Given the description of an element on the screen output the (x, y) to click on. 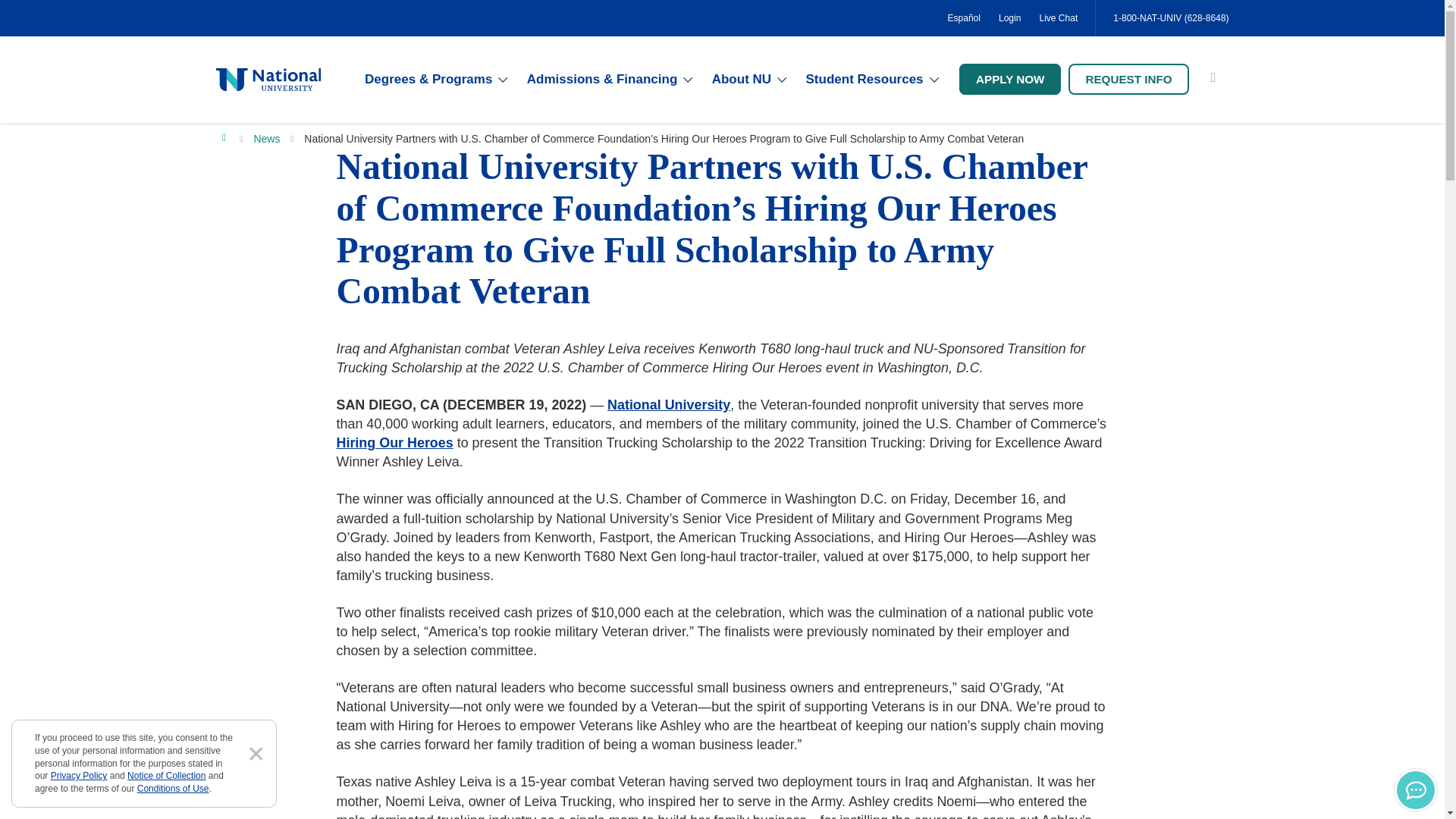
Login to your account (1009, 18)
Login (1009, 18)
Conditions of Use (172, 787)
go to National University homepage (267, 78)
Search (1213, 78)
Notice of Collection (166, 775)
Live Chat (1057, 18)
Privacy Policy (78, 775)
